Given the description of an element on the screen output the (x, y) to click on. 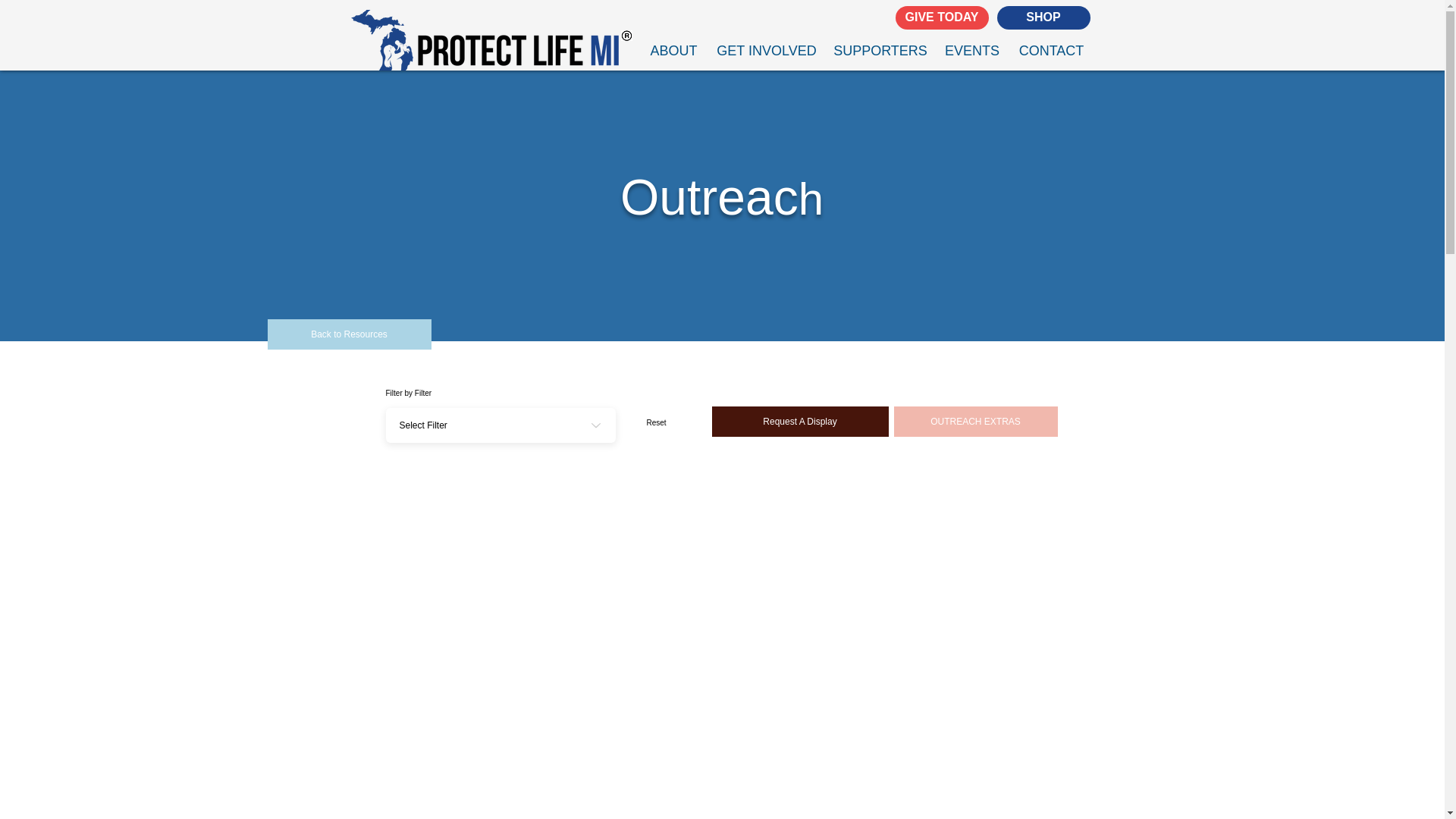
EVENTS (972, 50)
Reset (656, 422)
Request A Display (799, 421)
GIVE TODAY (941, 17)
ABOUT (673, 50)
OUTREACH EXTRAS (975, 421)
SUPPORTERS (879, 50)
Back to Resources (348, 334)
GET INVOLVED (766, 50)
SHOP (1042, 17)
